Given the description of an element on the screen output the (x, y) to click on. 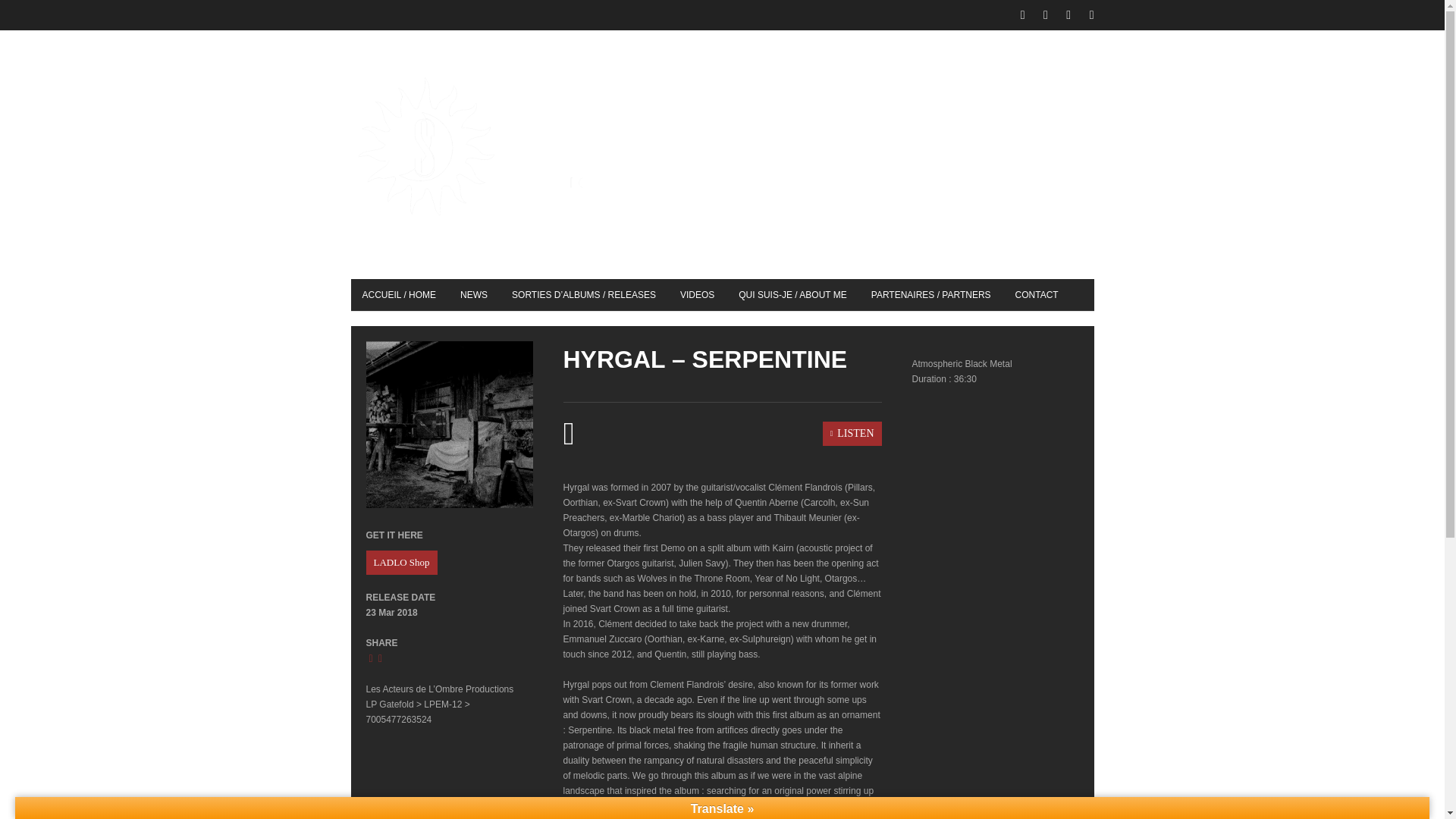
VIDEOS (696, 295)
LADLO Shop (400, 562)
CONTACT (1037, 295)
LISTEN (721, 433)
NEWS (473, 295)
